Given the description of an element on the screen output the (x, y) to click on. 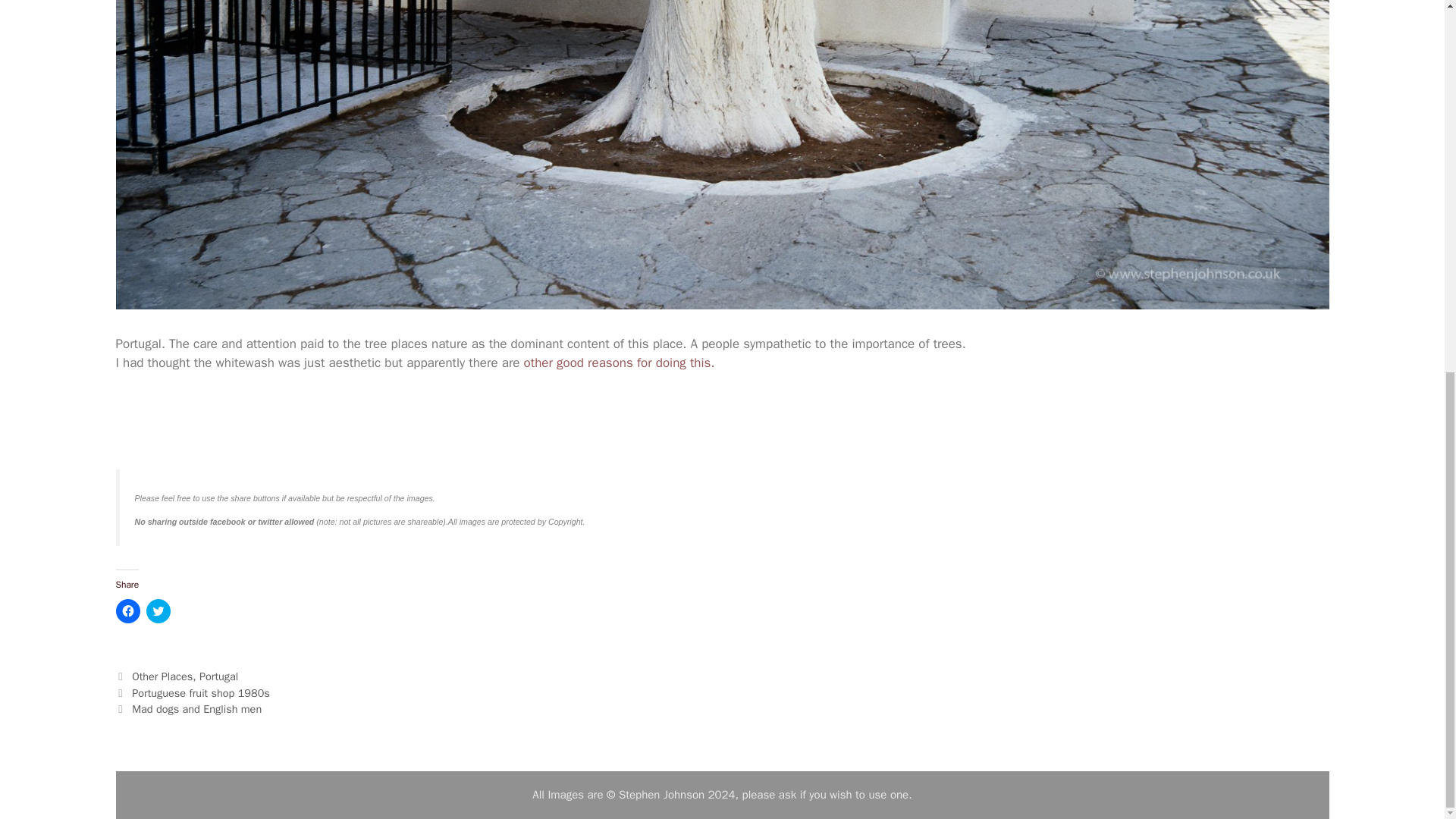
Click to share on Twitter (157, 610)
Click to share on Facebook (127, 610)
